Given the description of an element on the screen output the (x, y) to click on. 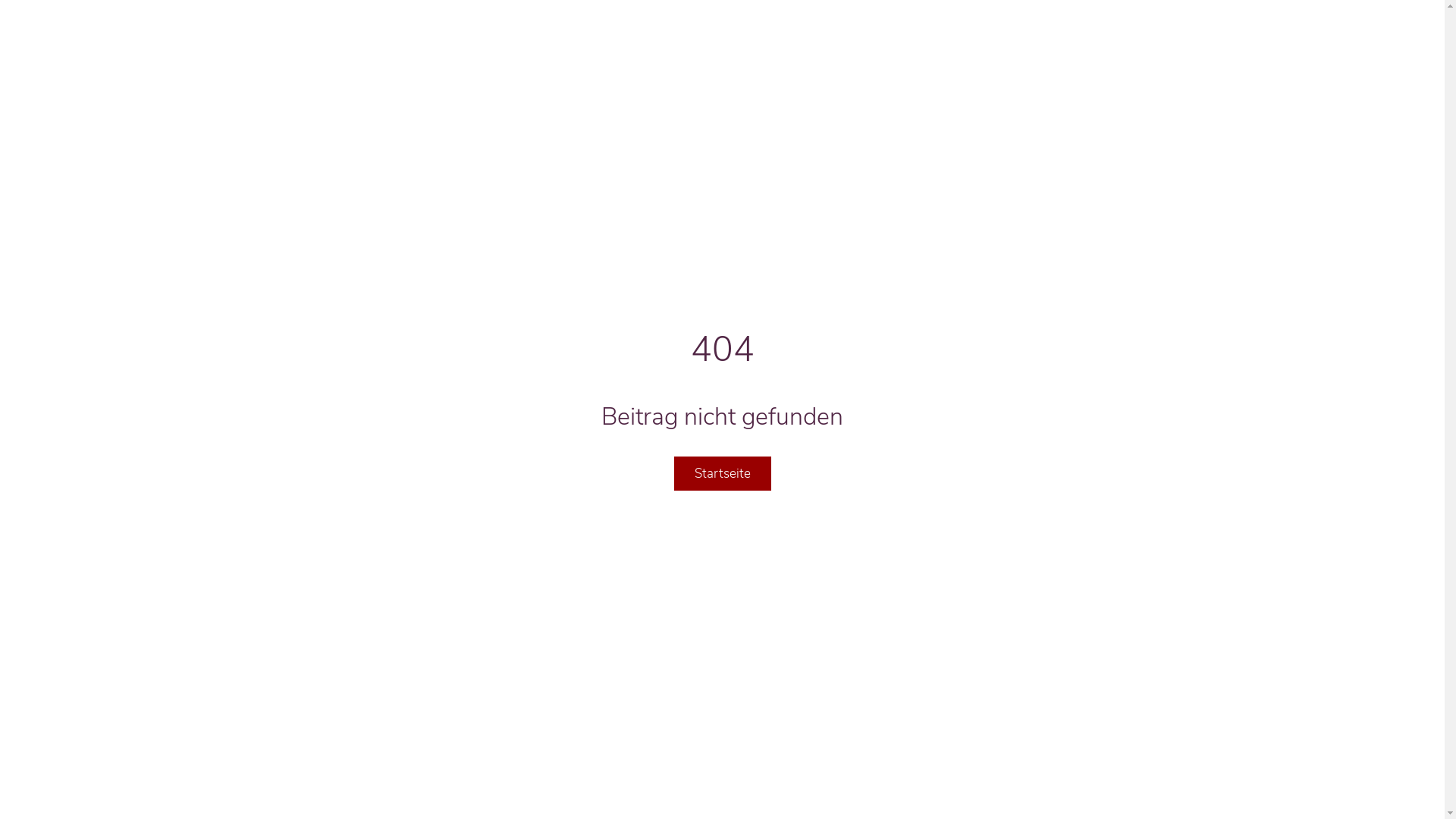
Startseite Element type: text (721, 473)
